Given the description of an element on the screen output the (x, y) to click on. 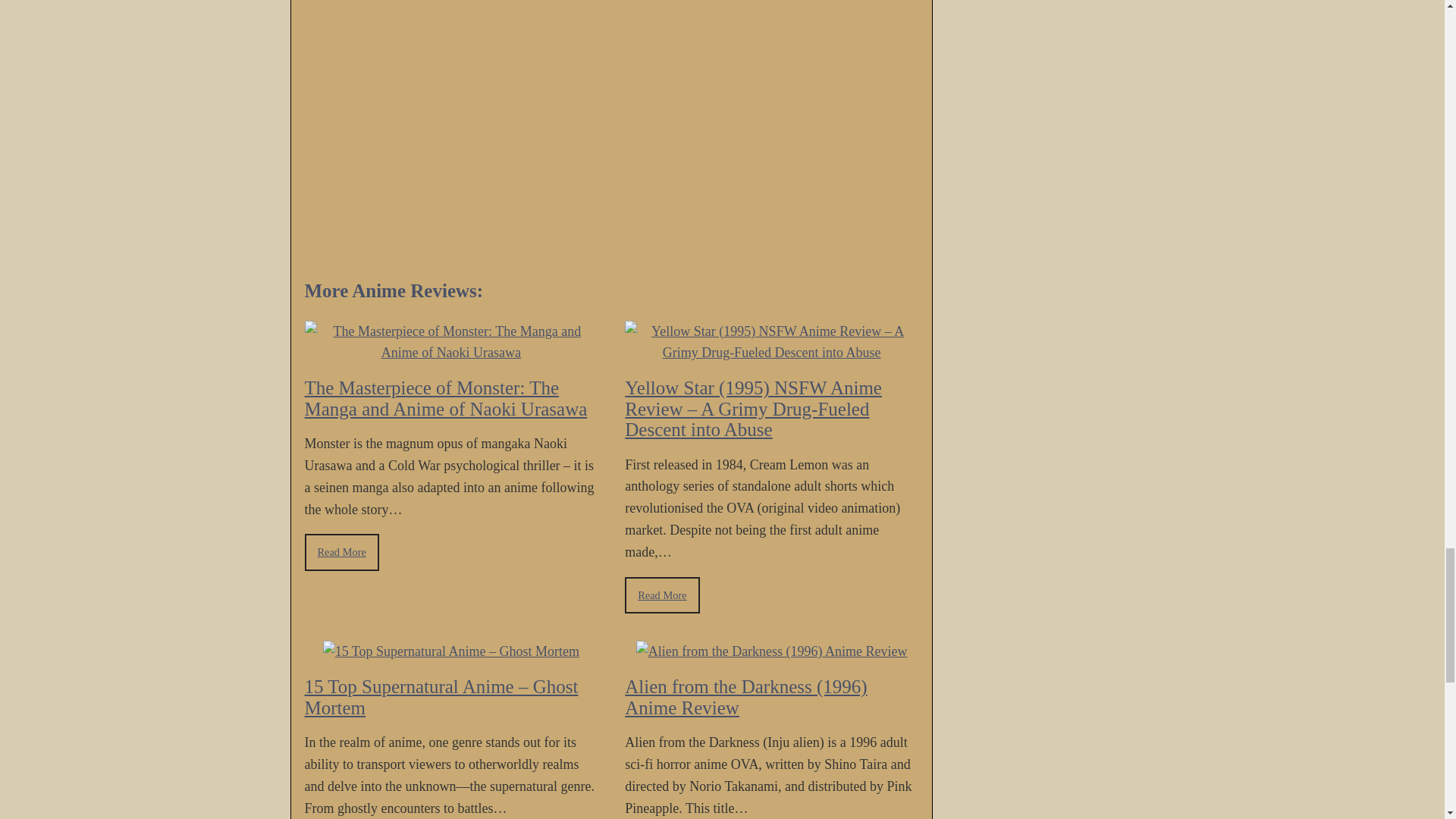
Read More (341, 551)
Read More (661, 595)
